Given the description of an element on the screen output the (x, y) to click on. 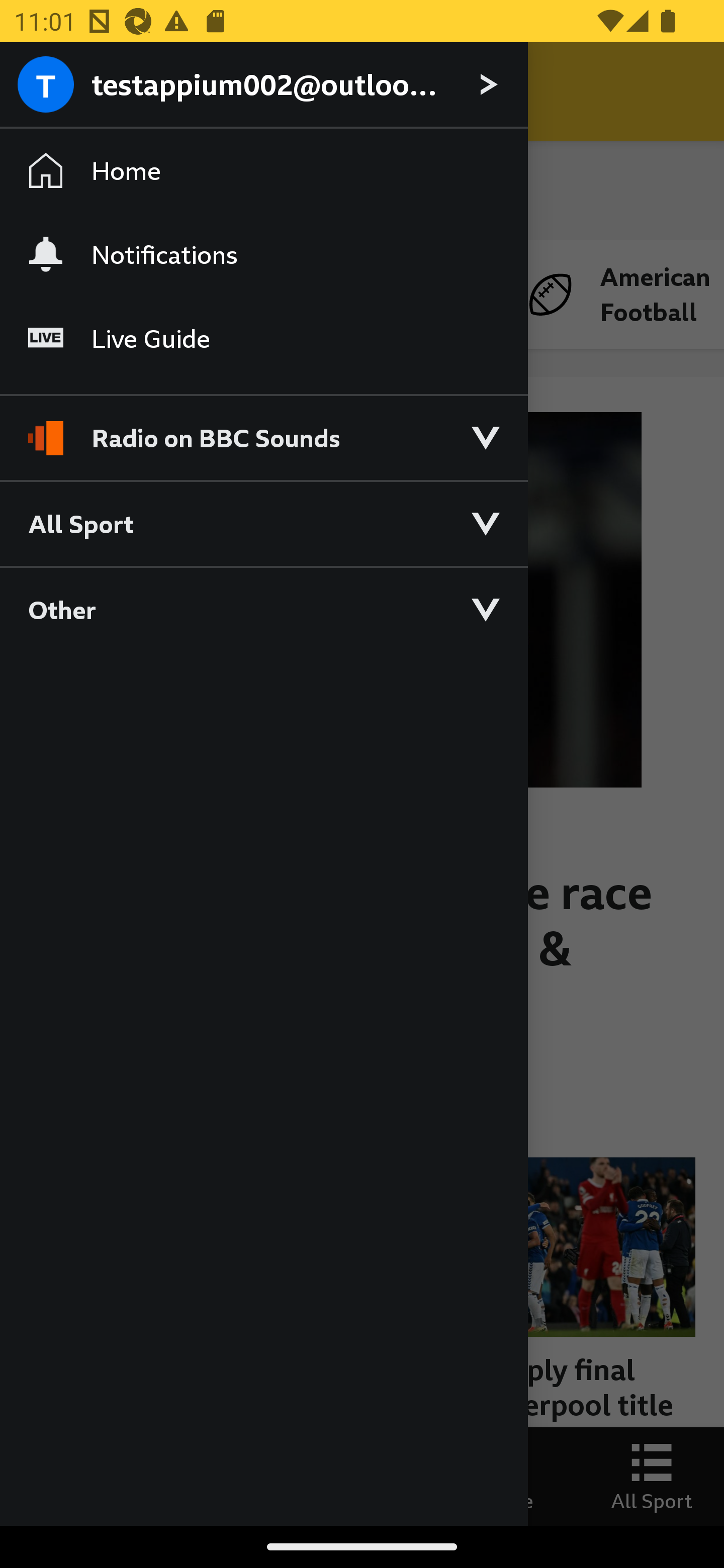
testappium002@outlook.com (263, 85)
Home (263, 170)
Notifications (263, 253)
Live Guide (263, 338)
Radio on BBC Sounds (263, 429)
All Sport (263, 522)
Other (263, 609)
